Given the description of an element on the screen output the (x, y) to click on. 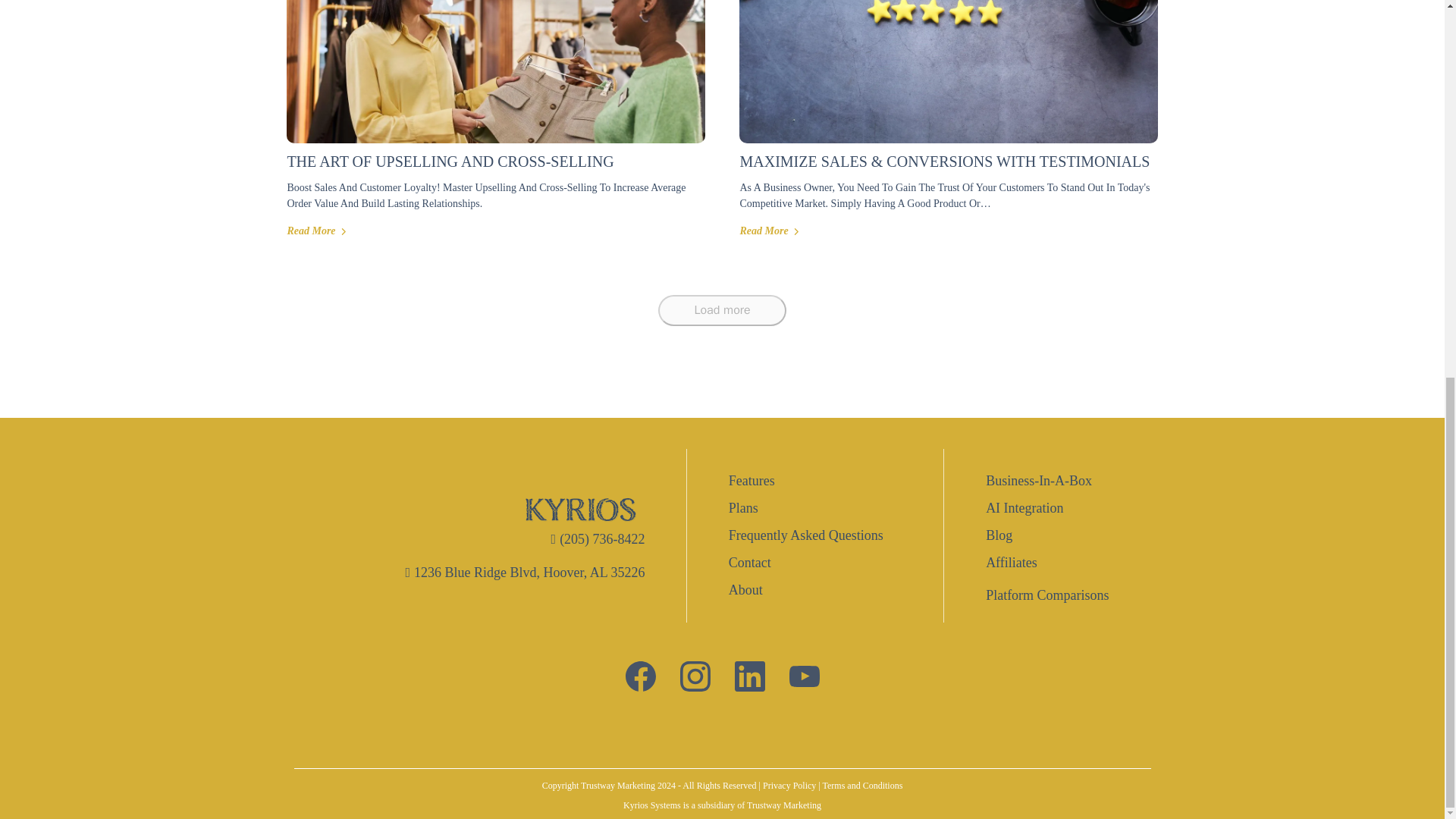
Load more (722, 309)
Read More (316, 231)
Read More (769, 231)
